Given the description of an element on the screen output the (x, y) to click on. 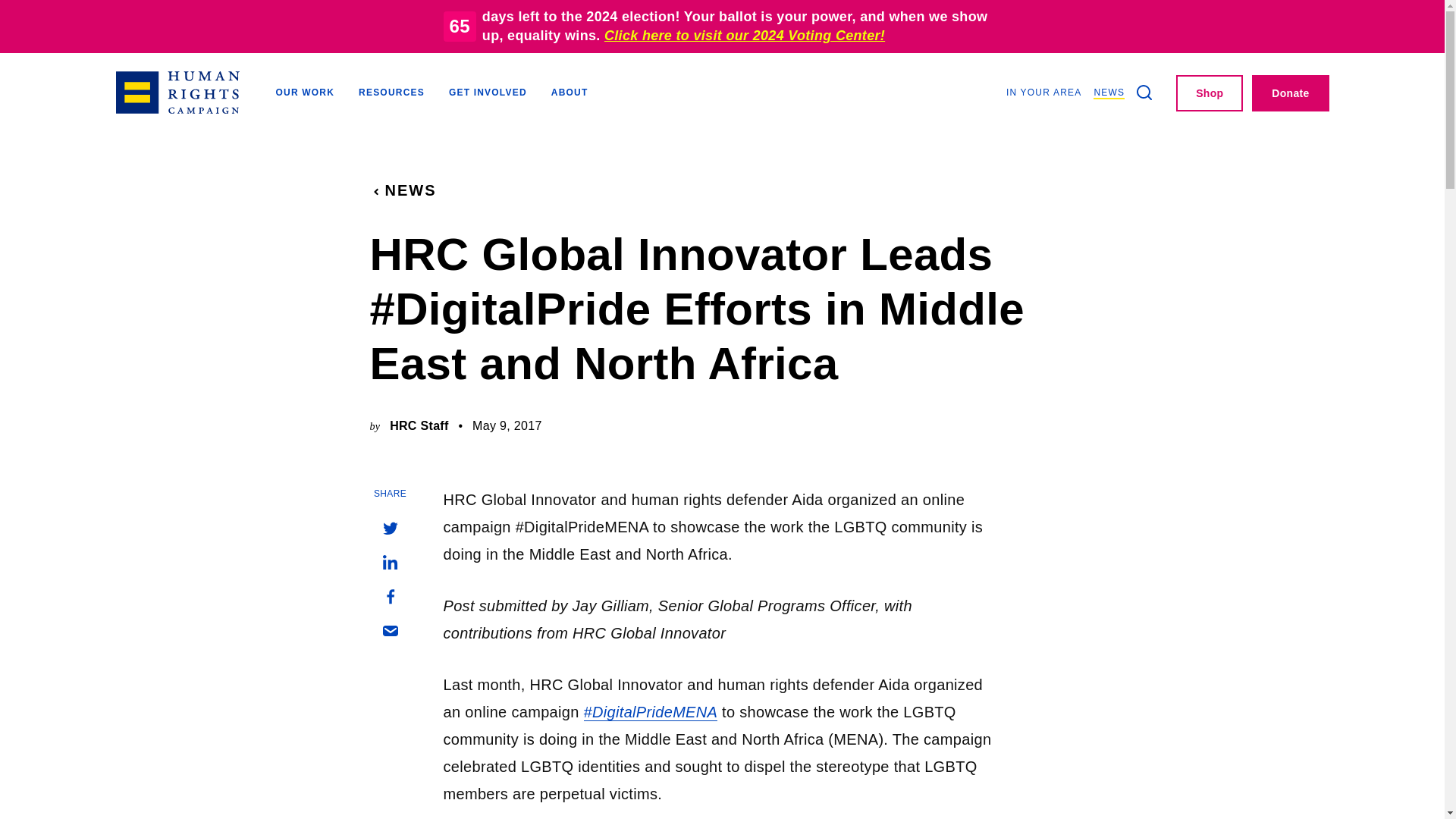
Shop (1209, 93)
Donate (1289, 93)
Twitter (389, 528)
NEWS (402, 190)
Email (389, 631)
IN YOUR AREA (1043, 92)
GET INVOLVED (487, 93)
OUR WORK (305, 93)
RESOURCES (391, 93)
SEARCH (1144, 92)
